Given the description of an element on the screen output the (x, y) to click on. 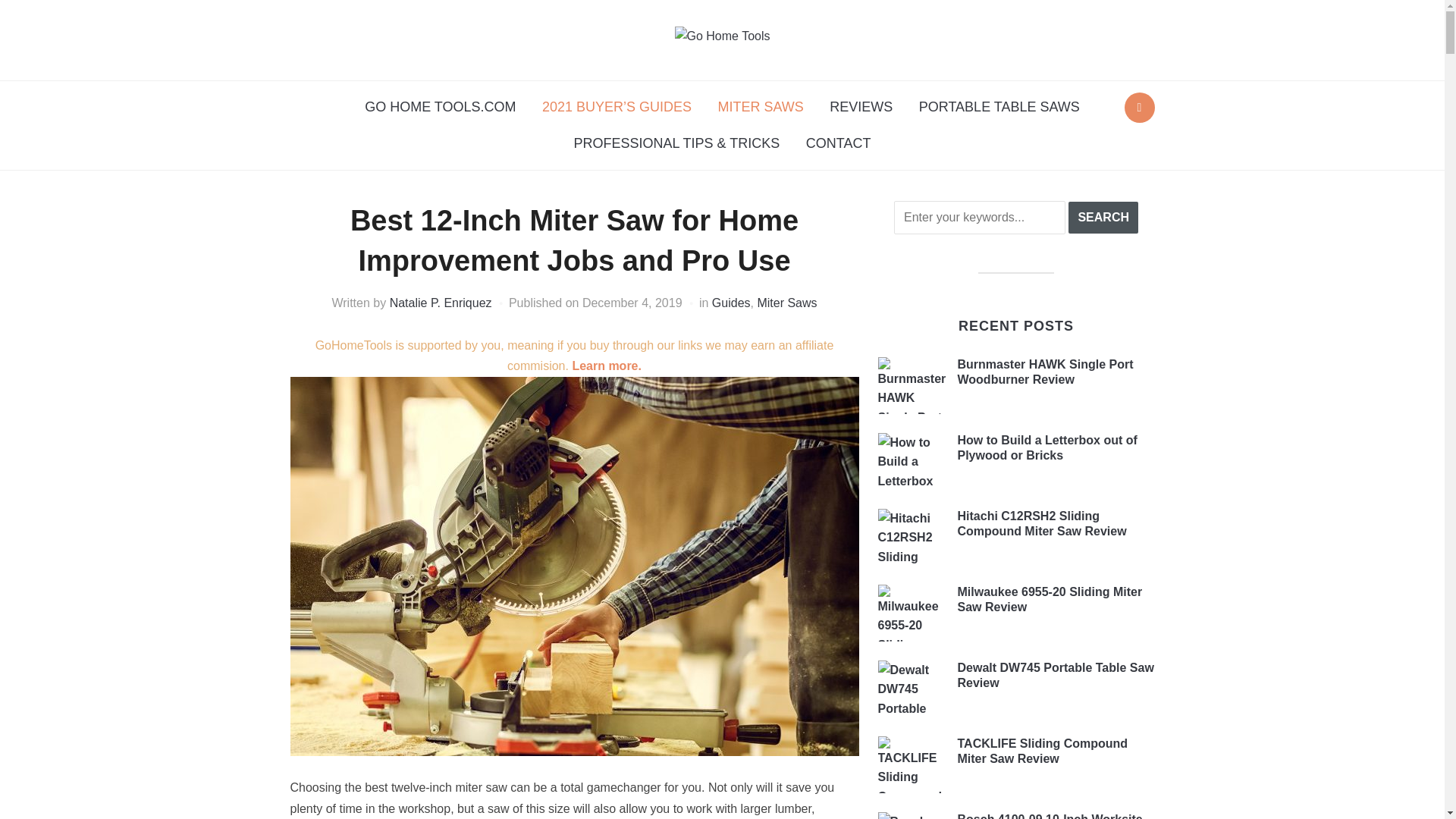
Posts by Natalie P. Enriquez (441, 302)
Search (1103, 217)
Search (1103, 217)
Search (1139, 107)
